Given the description of an element on the screen output the (x, y) to click on. 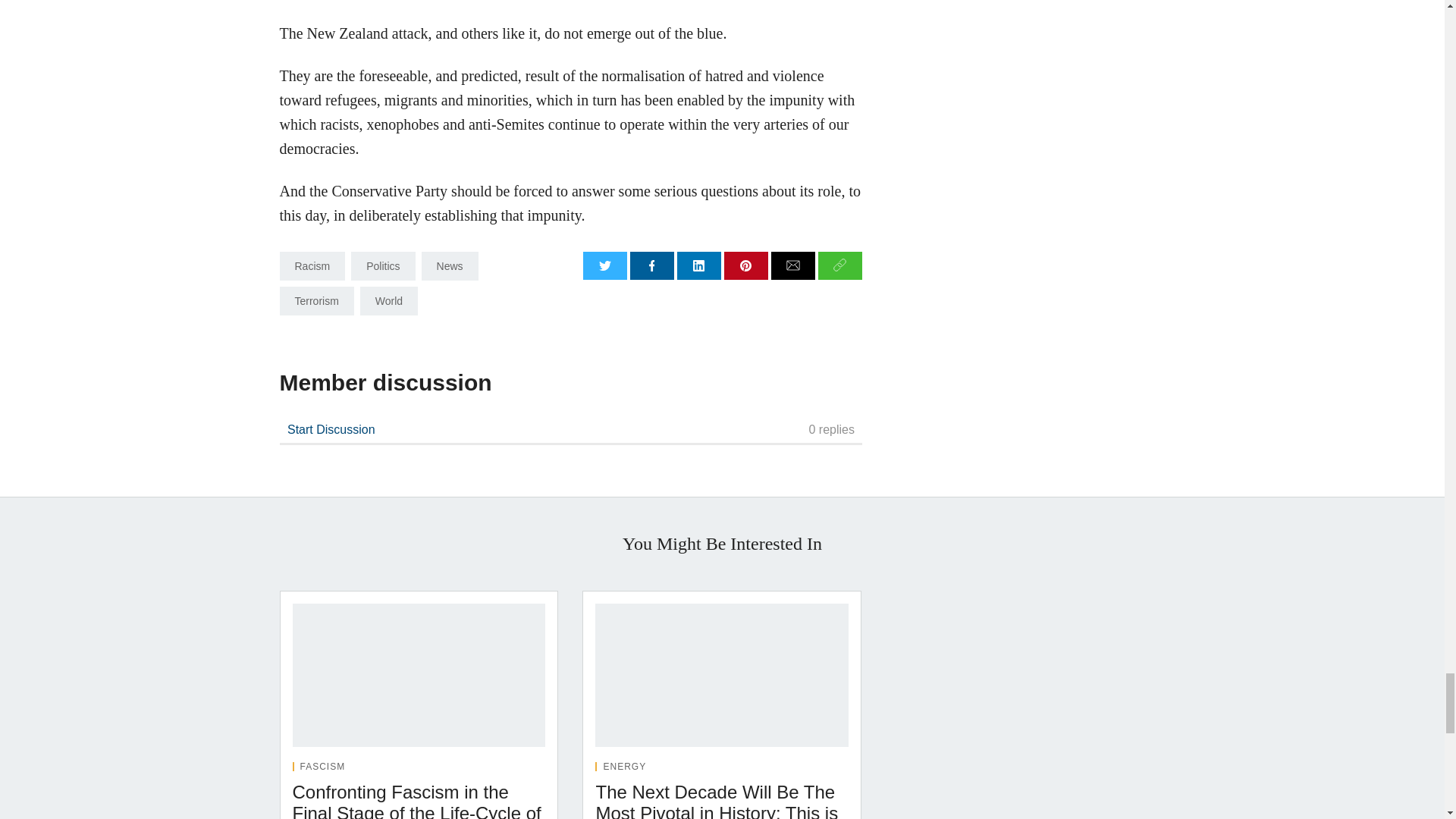
Copy link (839, 265)
Share on Facebook (652, 265)
Share via Email (793, 265)
Share on Twitter (605, 265)
Share on LinkedIn (698, 265)
Share on Pinterest (745, 265)
